Given the description of an element on the screen output the (x, y) to click on. 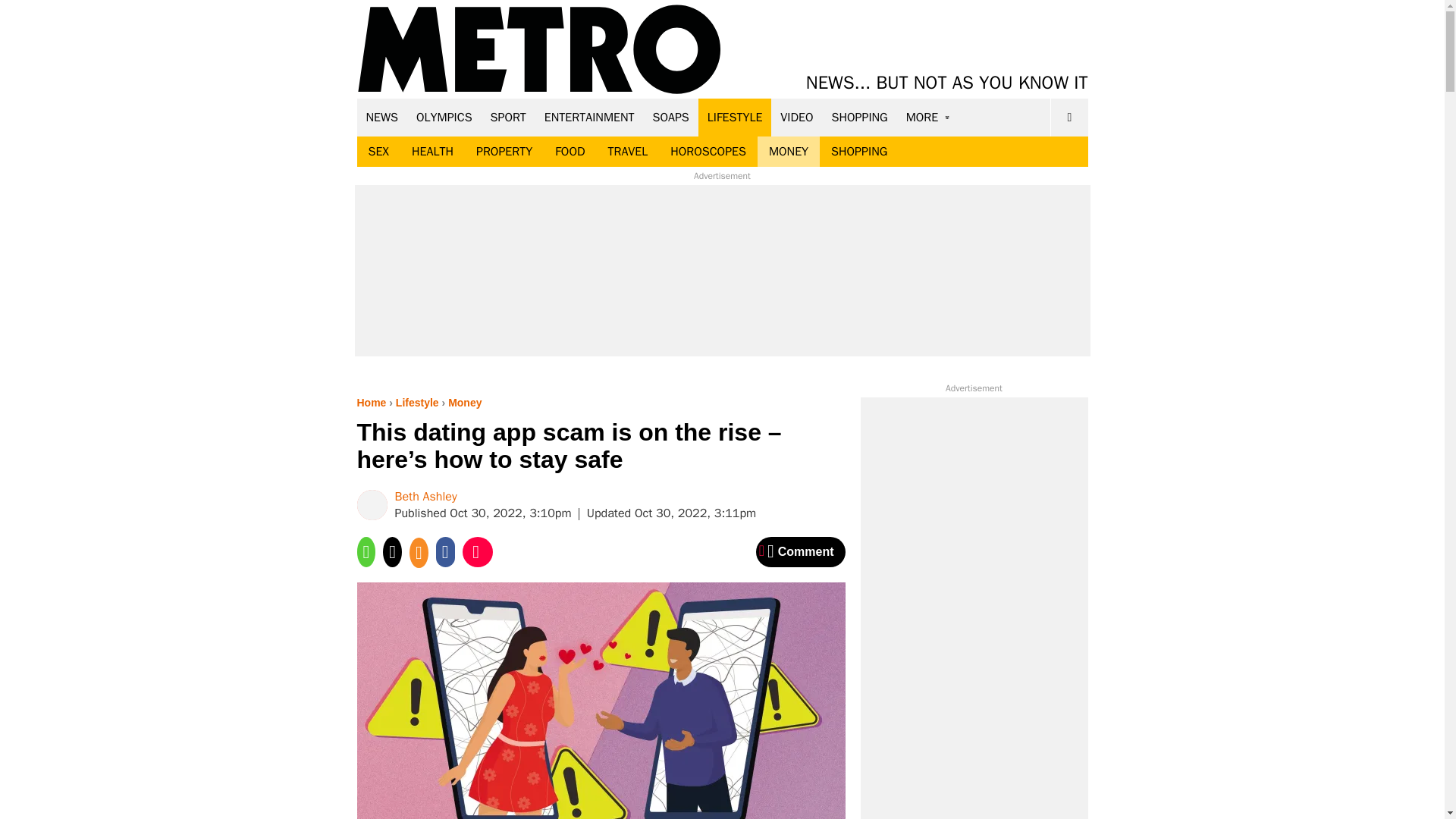
FOOD (569, 151)
PROPERTY (503, 151)
Metro (539, 50)
NEWS (381, 117)
OLYMPICS (444, 117)
SEX (377, 151)
LIFESTYLE (734, 117)
SPORT (508, 117)
ENTERTAINMENT (589, 117)
HEALTH (432, 151)
SOAPS (670, 117)
